Given the description of an element on the screen output the (x, y) to click on. 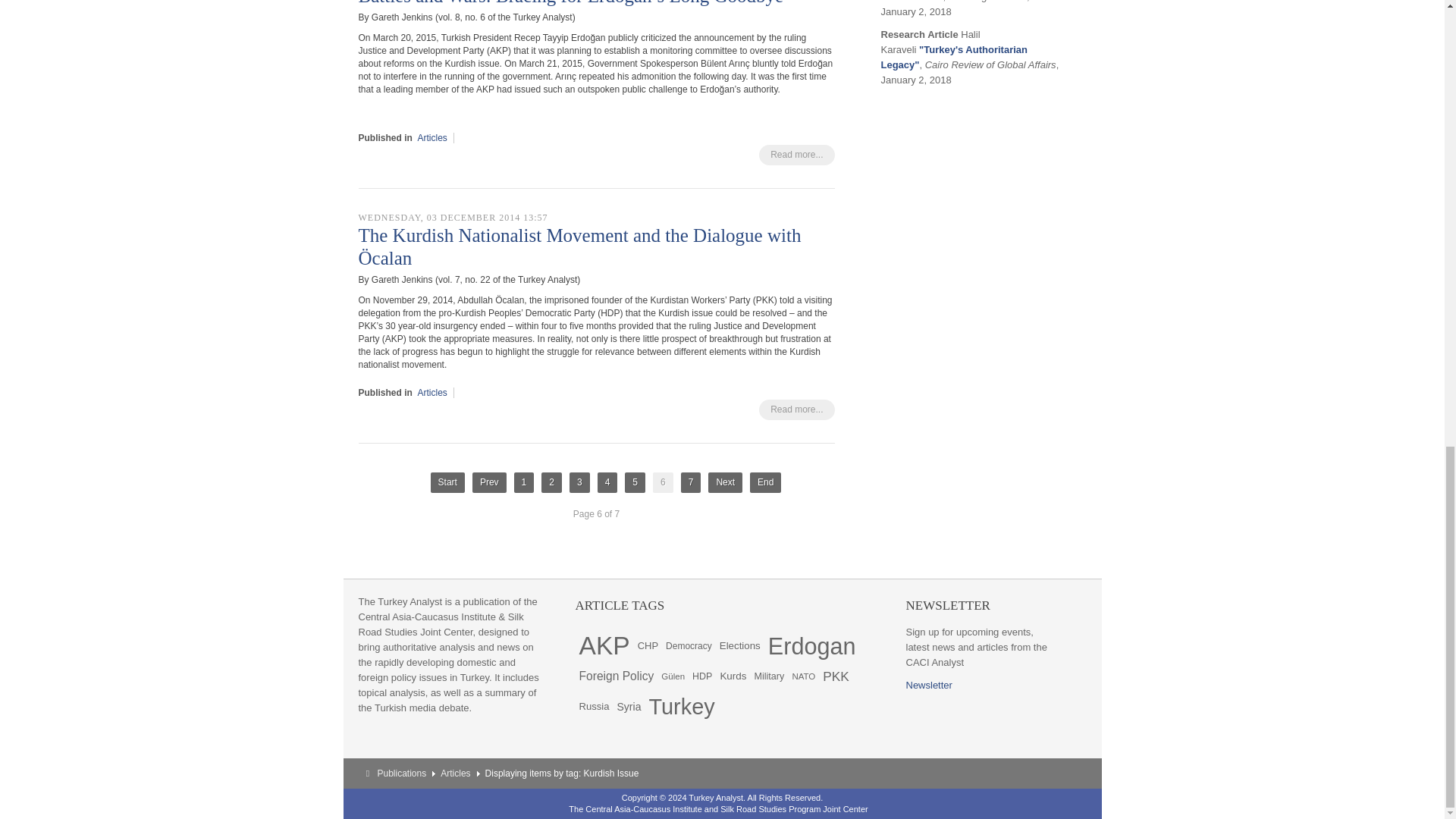
5 (634, 482)
7 (691, 482)
38 items tagged with CHP (647, 645)
End (764, 482)
Next (724, 482)
31 items tagged with Democracy (689, 645)
6 (662, 482)
Read more... (796, 409)
1 (523, 482)
1 (523, 482)
Next (724, 482)
2 (551, 482)
Start (447, 482)
7 (691, 482)
190 items tagged with AKP (604, 645)
